Given the description of an element on the screen output the (x, y) to click on. 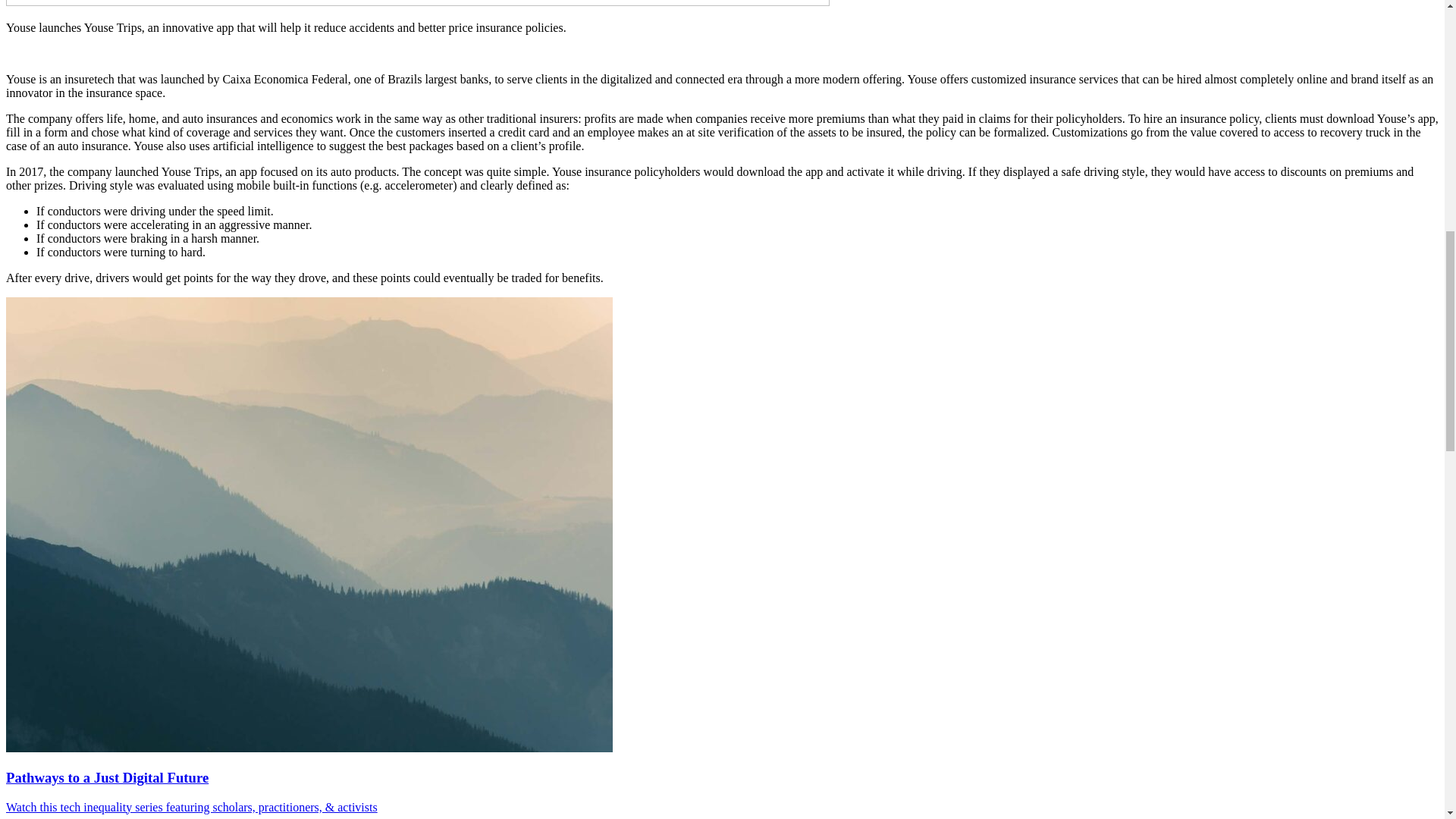
Pathways to a Just Digital Future (106, 777)
